Given the description of an element on the screen output the (x, y) to click on. 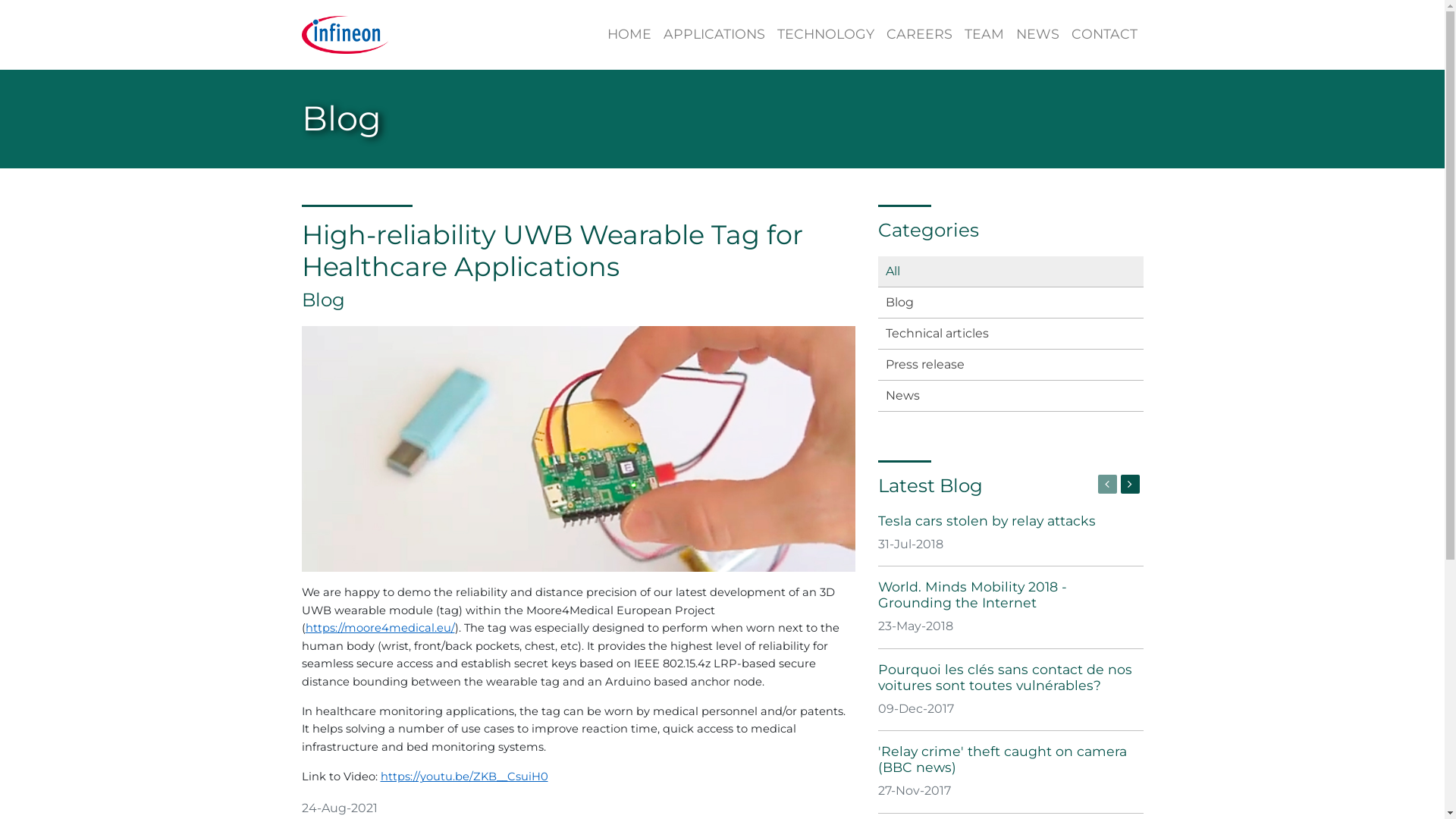
TECHNOLOGY Element type: text (824, 34)
https://moore4medical.eu/ Element type: text (379, 627)
HOME Element type: text (628, 34)
Tesla cars stolen by relay attacks Element type: text (986, 520)
News Element type: text (1010, 395)
CONTACT Element type: text (1103, 34)
'Relay crime' theft caught on camera (BBC news) Element type: text (1002, 759)
Blog Element type: text (1010, 302)
Press release Element type: text (1010, 364)
https://youtu.be/ZKB__CsuiH0 Element type: text (464, 776)
CAREERS Element type: text (918, 34)
NEWS Element type: text (1037, 34)
World. Minds Mobility 2018 - Grounding the Internet Element type: text (972, 594)
Technical articles Element type: text (1010, 333)
APPLICATIONS Element type: text (713, 34)
All Element type: text (1010, 271)
TEAM Element type: text (984, 34)
